Given the description of an element on the screen output the (x, y) to click on. 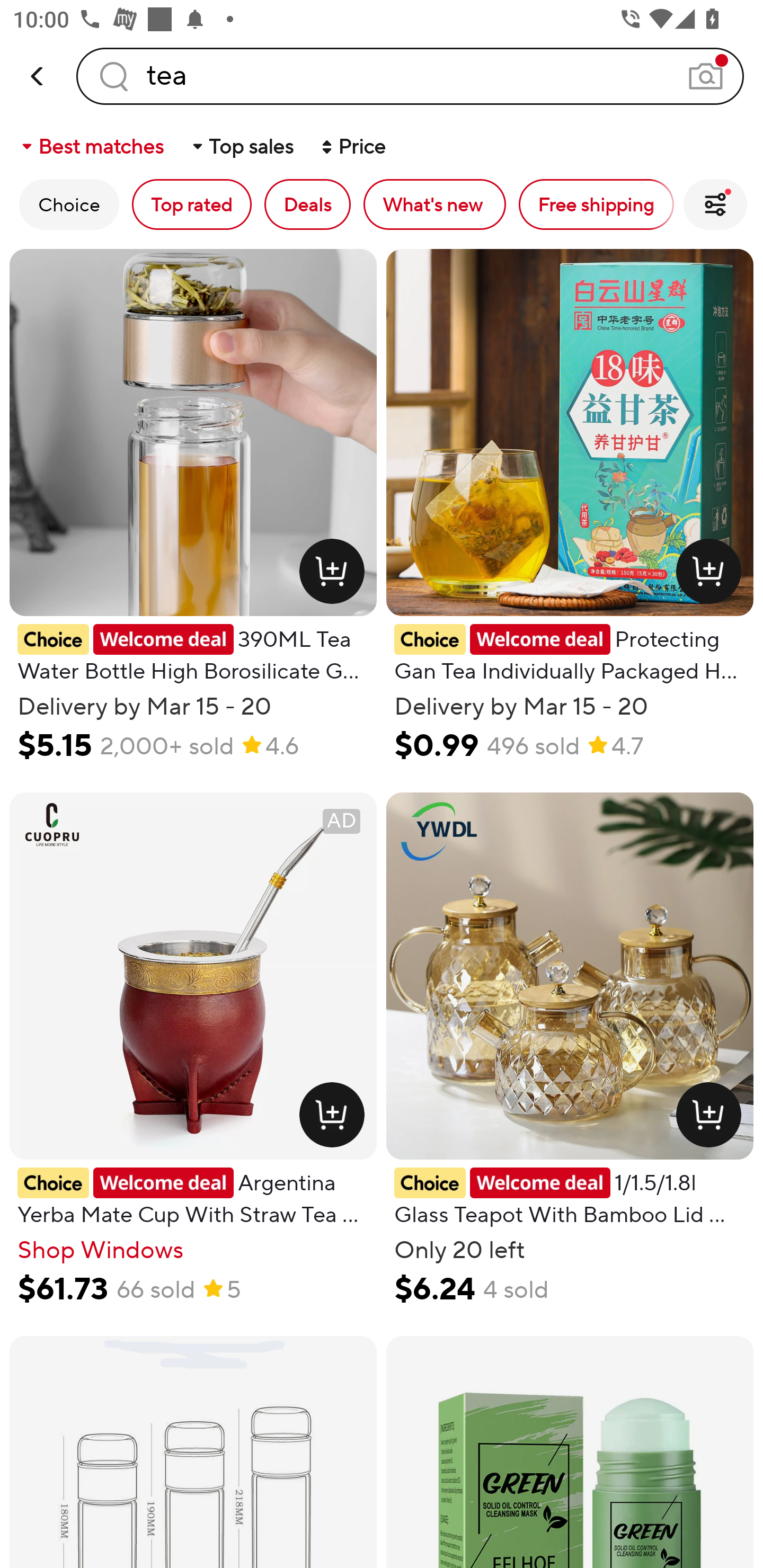
back (38, 75)
tea Search query (409, 76)
tea Search query (409, 76)
Best matches (91, 146)
Top sales (241, 146)
Price (352, 146)
Choice (69, 204)
Top rated (191, 204)
Deals (307, 204)
What's new  (434, 204)
Free shipping (595, 204)
